Given the description of an element on the screen output the (x, y) to click on. 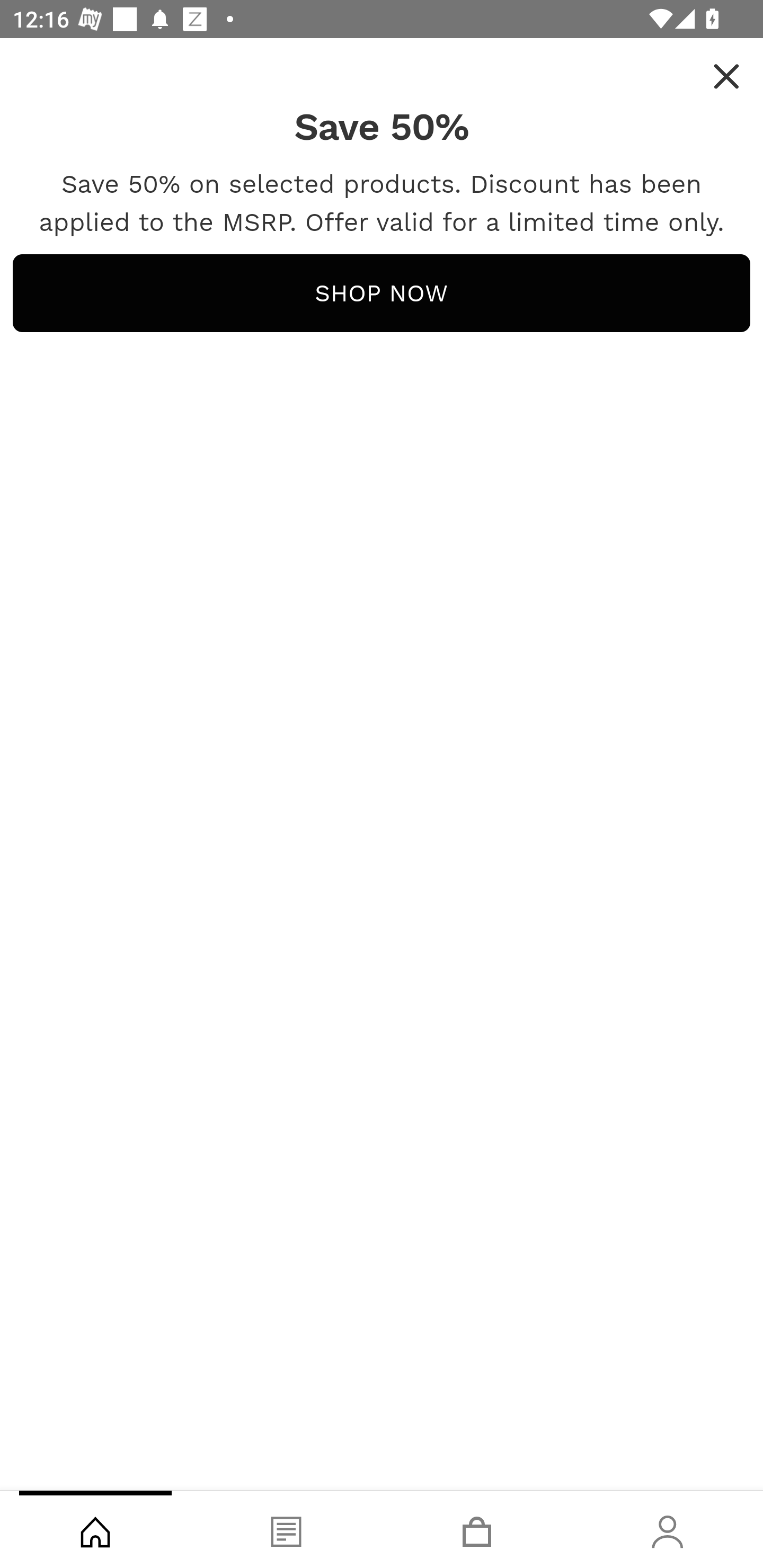
Close (725, 76)
SHOP NOW (381, 293)
Shop, tab, 1 of 4 (95, 1529)
Blog, tab, 2 of 4 (285, 1529)
Basket, tab, 3 of 4 (476, 1529)
Account, tab, 4 of 4 (667, 1529)
